Given the description of an element on the screen output the (x, y) to click on. 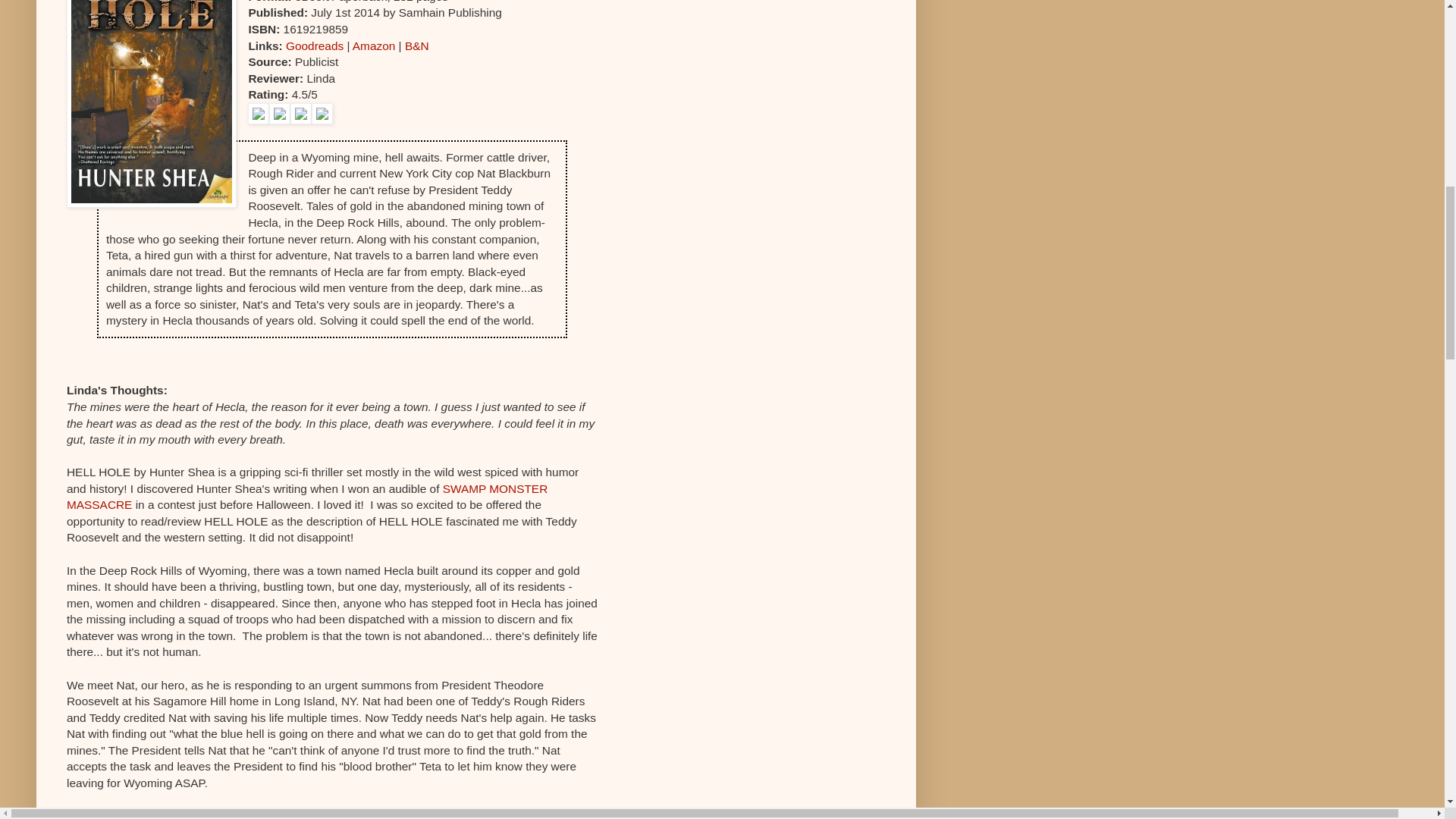
Amazon (373, 45)
SWAMP MONSTER MASSACRE (306, 496)
Goodreads (314, 45)
